Given the description of an element on the screen output the (x, y) to click on. 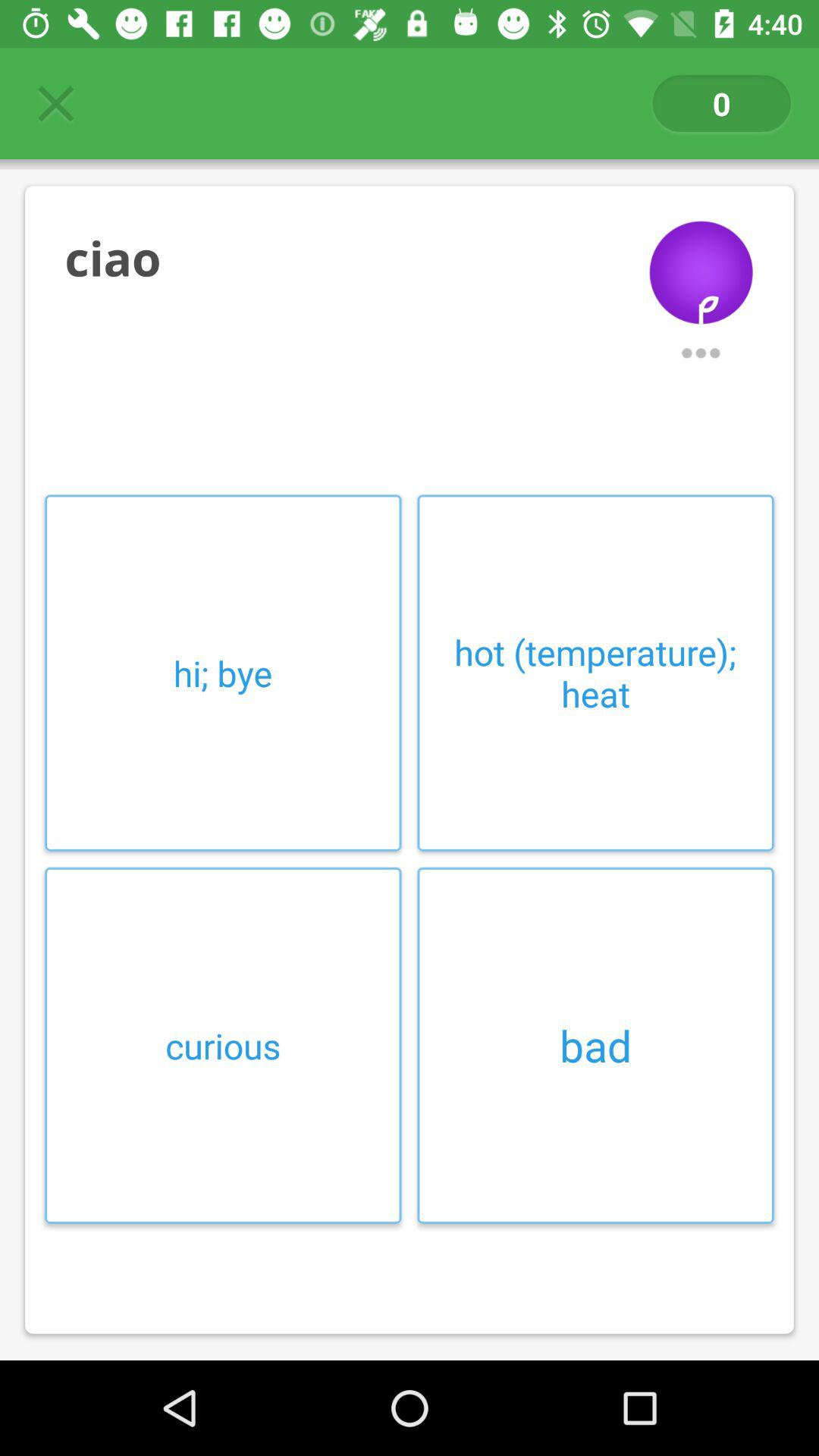
scroll until ciao item (342, 257)
